Given the description of an element on the screen output the (x, y) to click on. 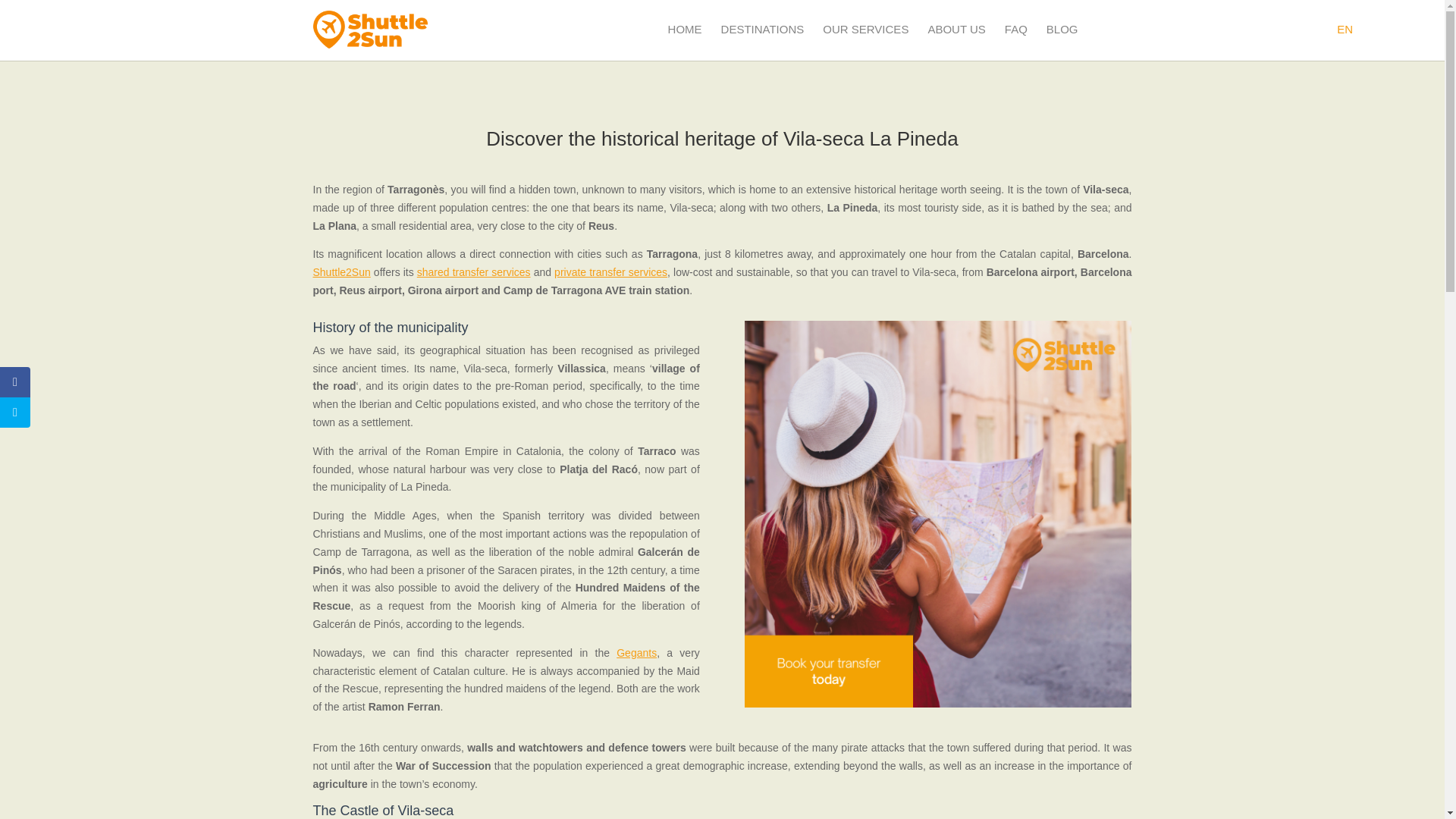
Shuttle2Sun (341, 272)
ABOUT US (956, 29)
FAQ (1015, 29)
OUR SERVICES (865, 29)
private transfer services (610, 272)
shared transfer services (473, 272)
DESTINATIONS (762, 29)
HOME (684, 29)
BLOG (1062, 29)
EN (1344, 29)
EN (1344, 29)
